Given the description of an element on the screen output the (x, y) to click on. 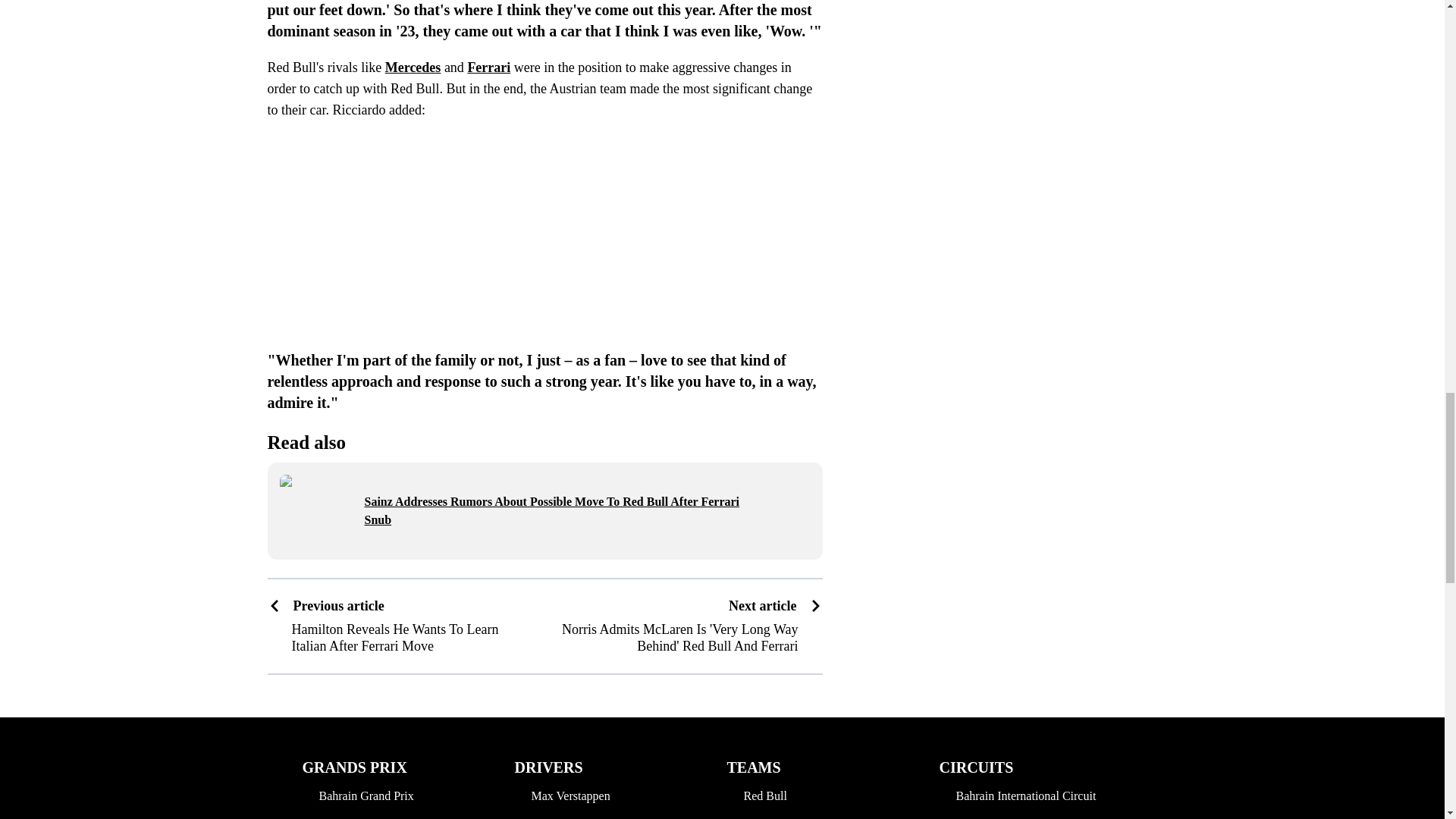
Bahrain Grand Prix (379, 796)
Ferrari (489, 67)
Previous article (400, 606)
Next article (775, 606)
Mercedes (413, 67)
